Given the description of an element on the screen output the (x, y) to click on. 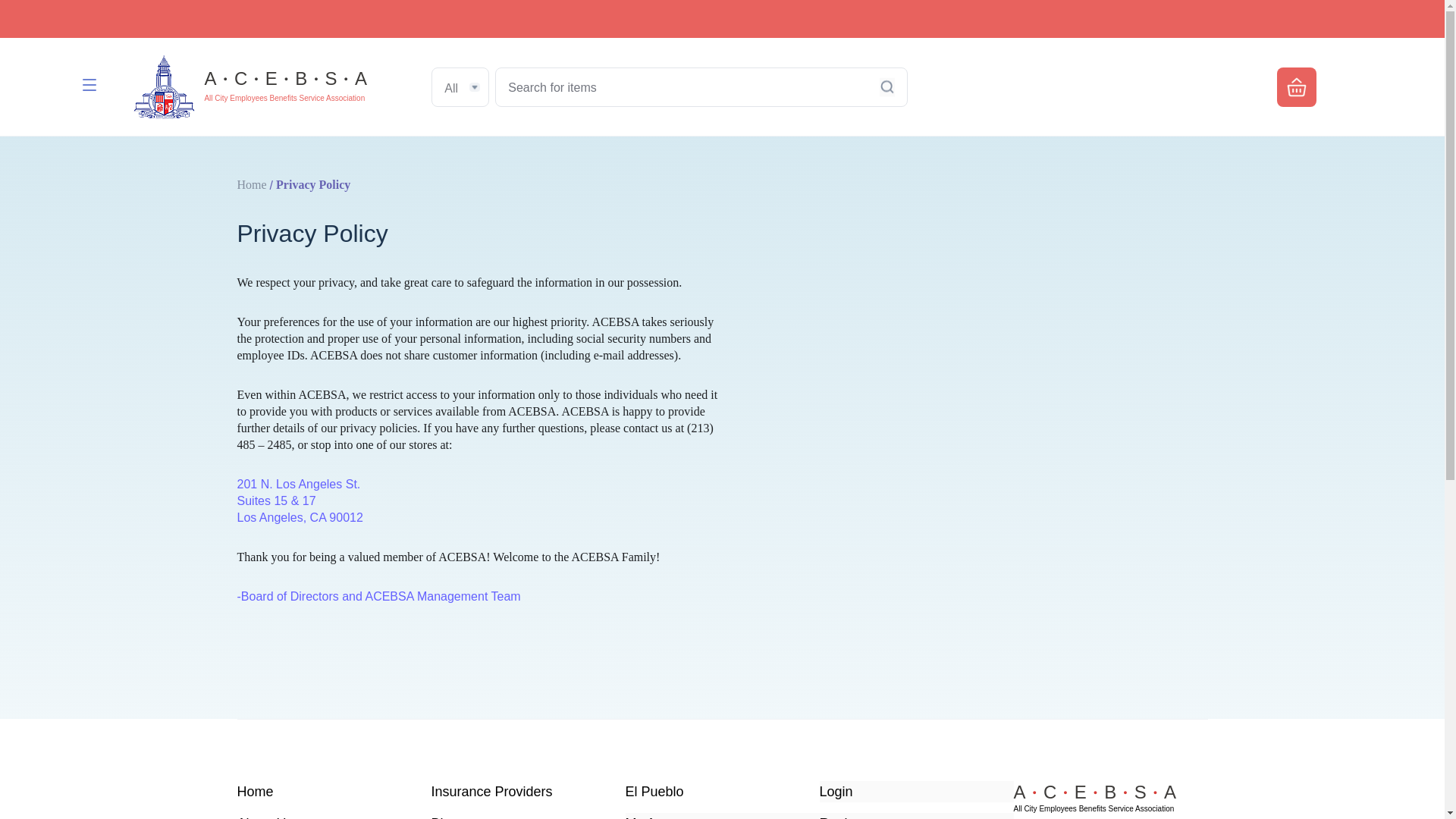
El Pueblo (721, 791)
Insurance Providers (527, 791)
Home (332, 791)
Blog (527, 816)
Register (915, 816)
Privacy Policy (313, 184)
Home (250, 184)
Login (915, 791)
About Us (332, 816)
My Account (721, 816)
